Given the description of an element on the screen output the (x, y) to click on. 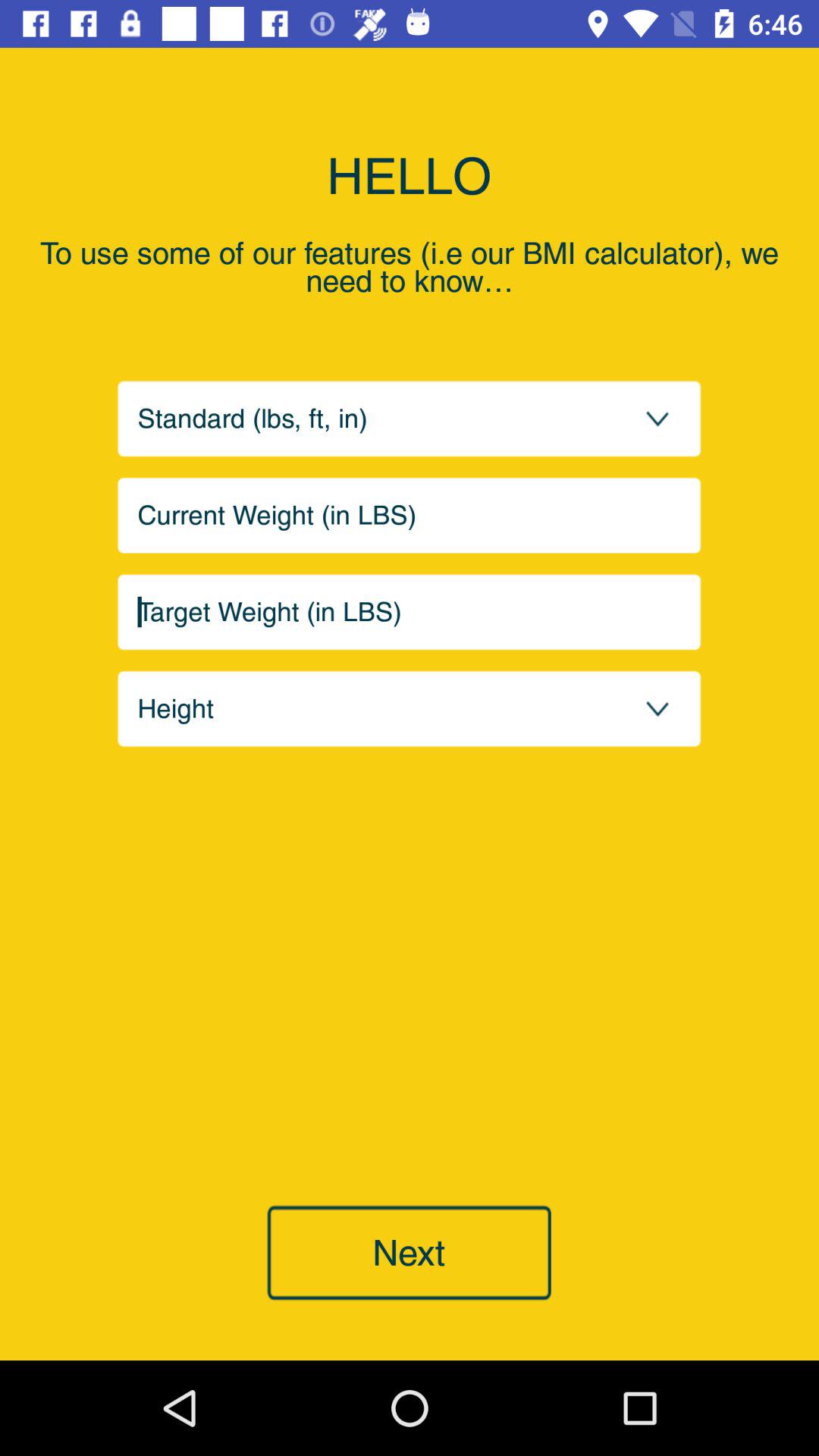
enter current weight (409, 515)
